Given the description of an element on the screen output the (x, y) to click on. 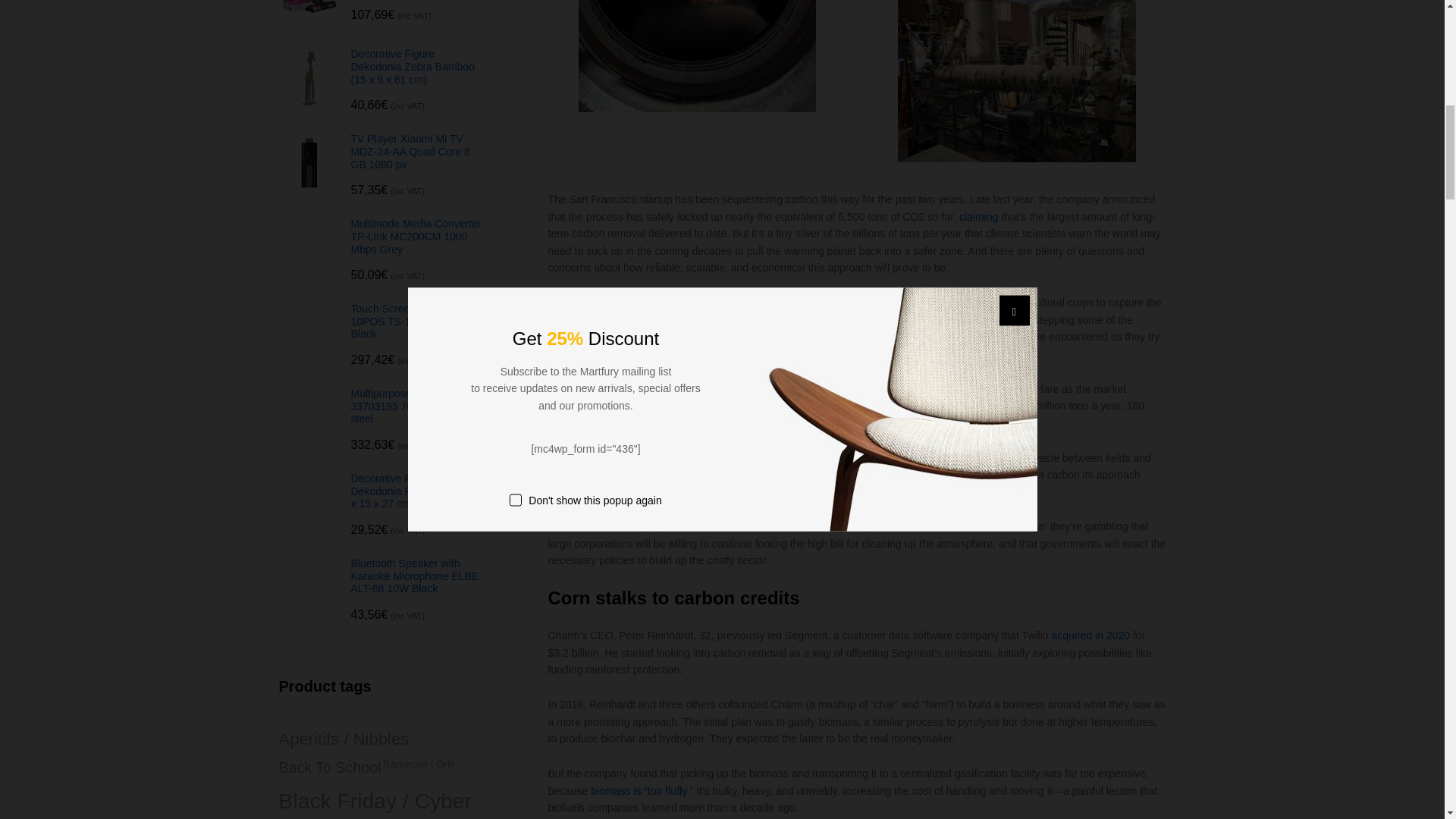
claiming (978, 216)
acquired in 2020 (1088, 635)
Climeworks (883, 336)
coming online (890, 405)
